Given the description of an element on the screen output the (x, y) to click on. 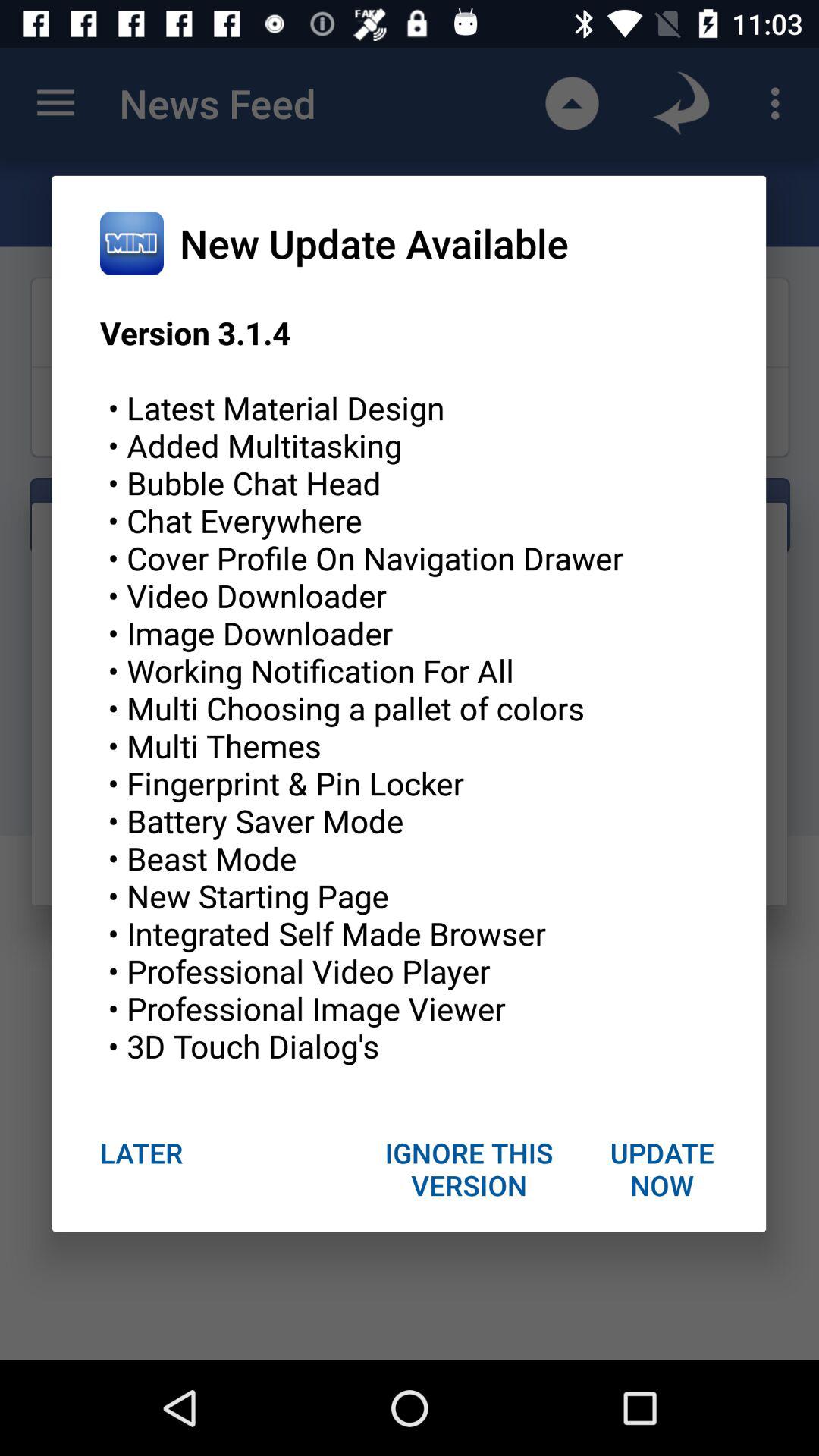
open icon next to ignore this
version icon (141, 1153)
